Given the description of an element on the screen output the (x, y) to click on. 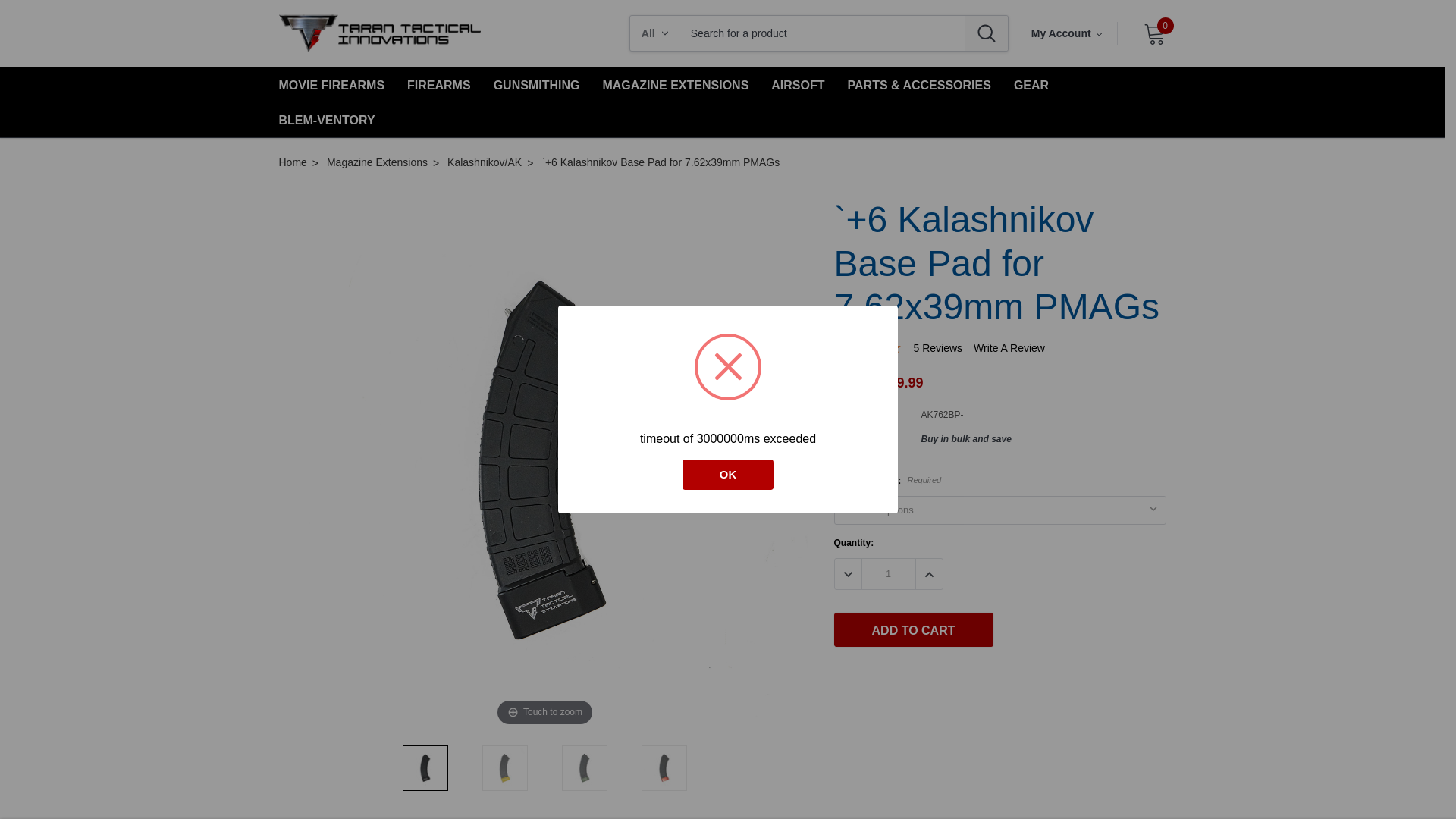
1 (887, 573)
Add to Cart (913, 629)
Taran Tactical Innovations (379, 33)
